Given the description of an element on the screen output the (x, y) to click on. 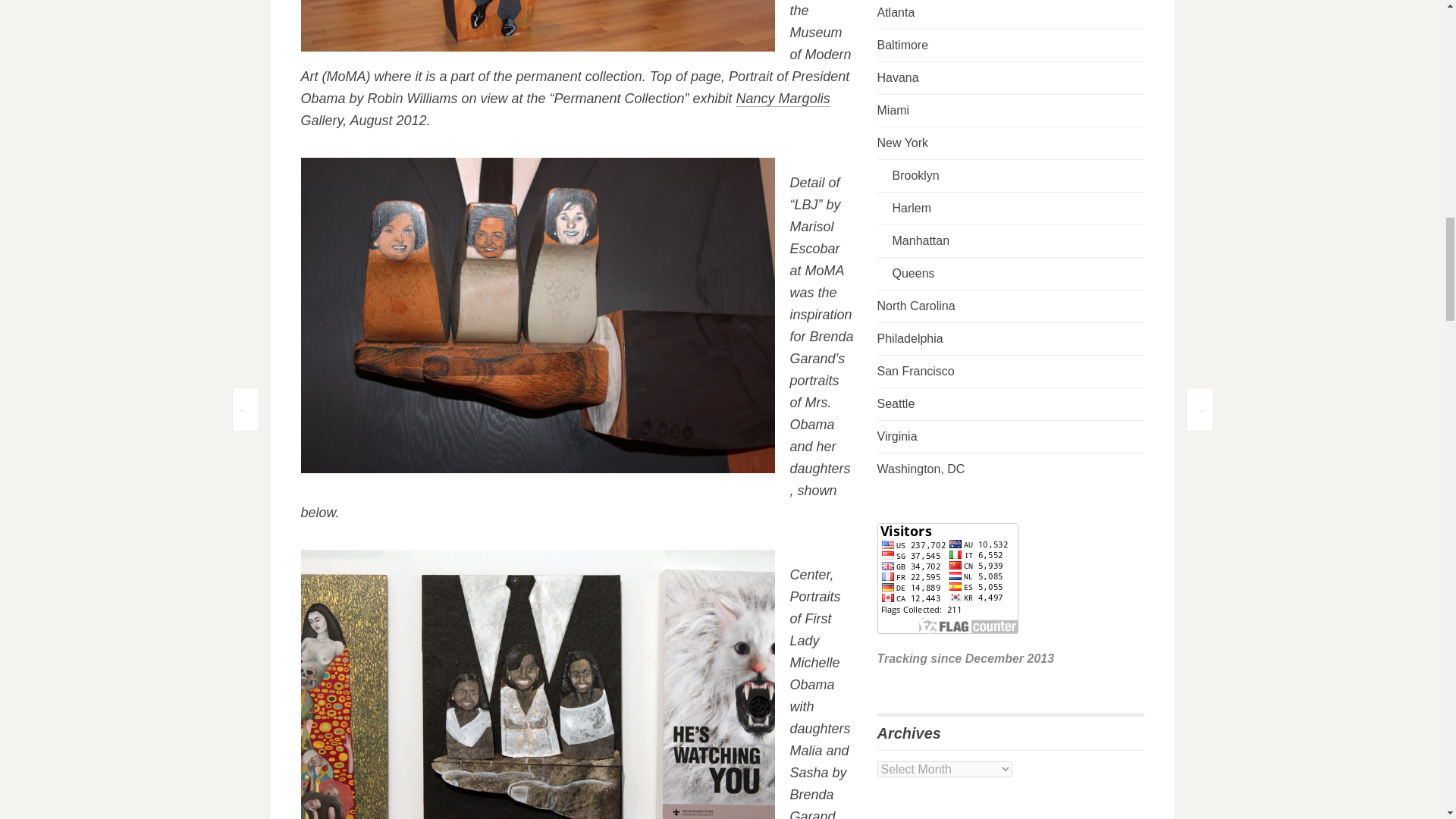
Nancy Margolis (782, 98)
